Given the description of an element on the screen output the (x, y) to click on. 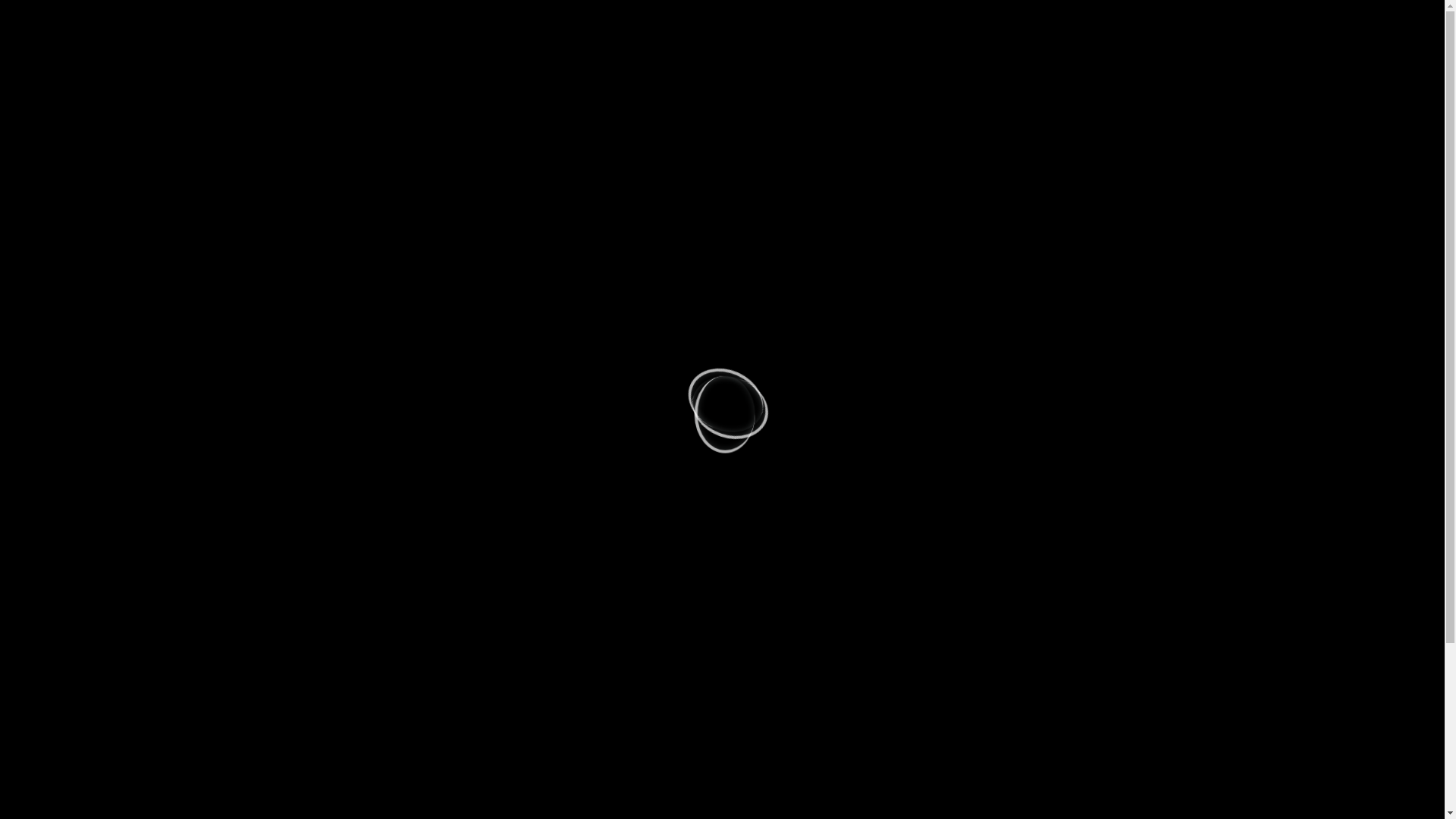
About Element type: text (395, 75)
Privacy Policy Element type: text (919, 75)
Home Element type: text (344, 75)
Terms Of Use Element type: text (1007, 75)
Occasions Element type: text (456, 75)
Youtube Element type: text (1128, 18)
Home Element type: text (317, 791)
contact@edibleelegance.com.au
contact@edibleelegance.com.au Element type: text (531, 15)
Facebook Element type: text (1096, 18)
Decorating Cakes Element type: text (543, 75)
Contact Us Element type: text (838, 75)
0732635117
0732635117 Element type: text (339, 15)
Send Message Element type: text (350, 626)
